Given the description of an element on the screen output the (x, y) to click on. 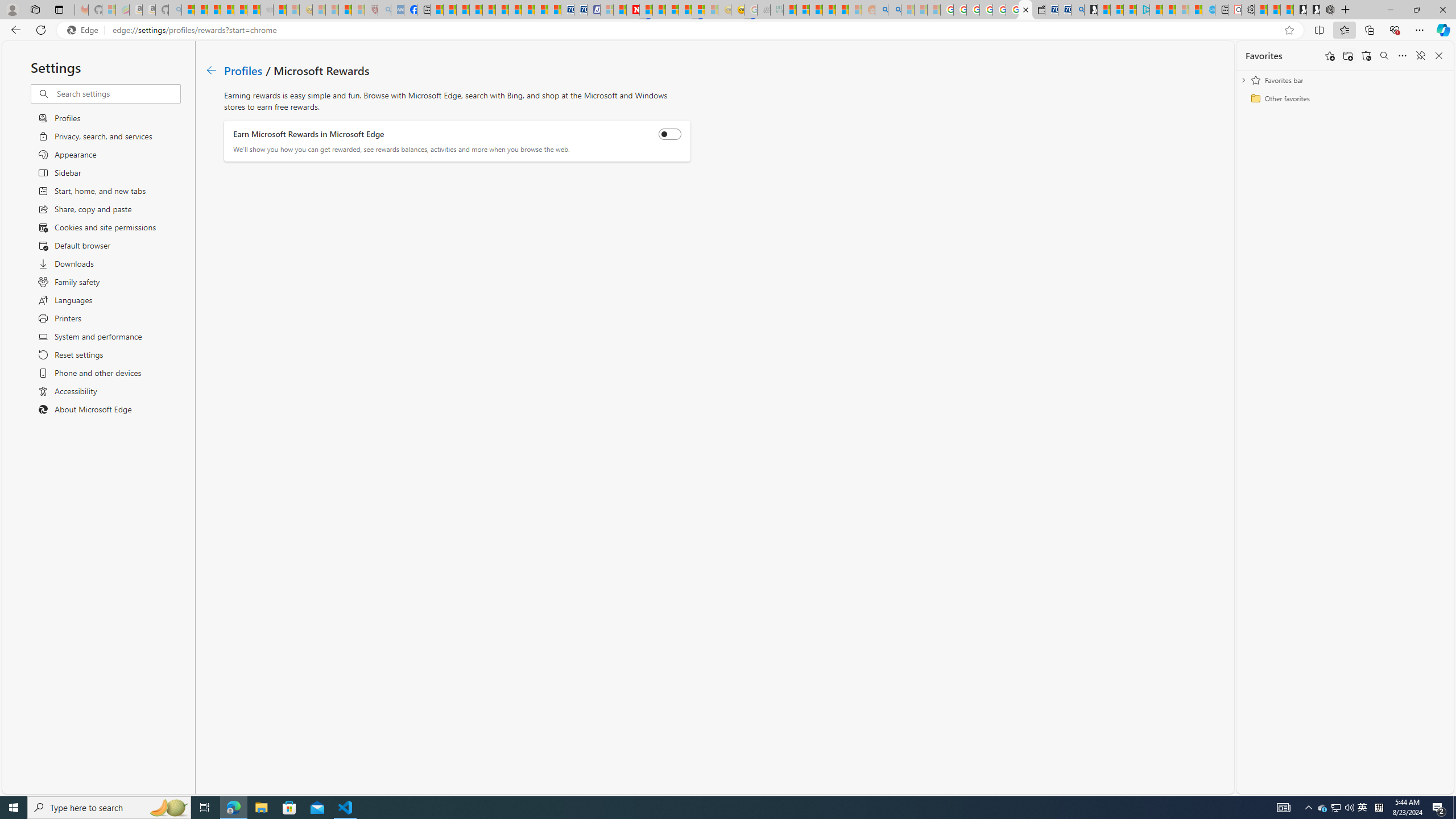
Search favorites (1383, 55)
Class: c01176 (210, 70)
Cheap Car Rentals - Save70.com (1063, 9)
The Weather Channel - MSN (213, 9)
